Given the description of an element on the screen output the (x, y) to click on. 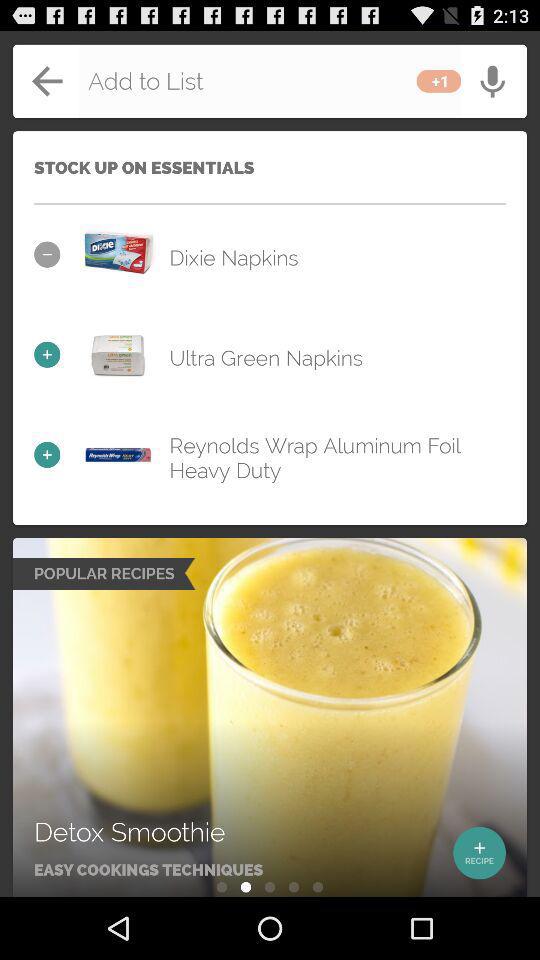
remove selected item (118, 254)
